Given the description of an element on the screen output the (x, y) to click on. 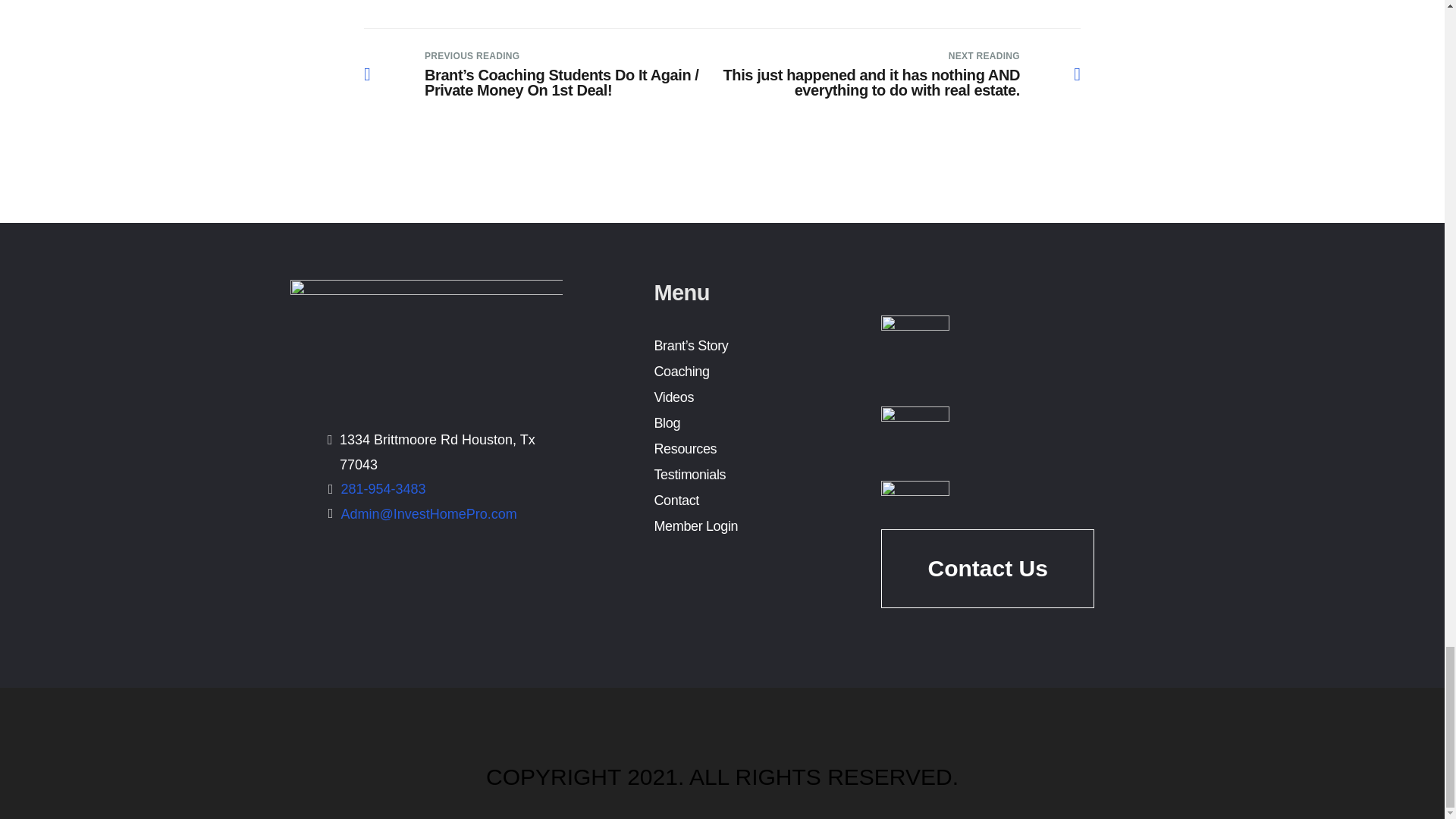
281-954-3483 (383, 488)
Coaching (681, 371)
